Given the description of an element on the screen output the (x, y) to click on. 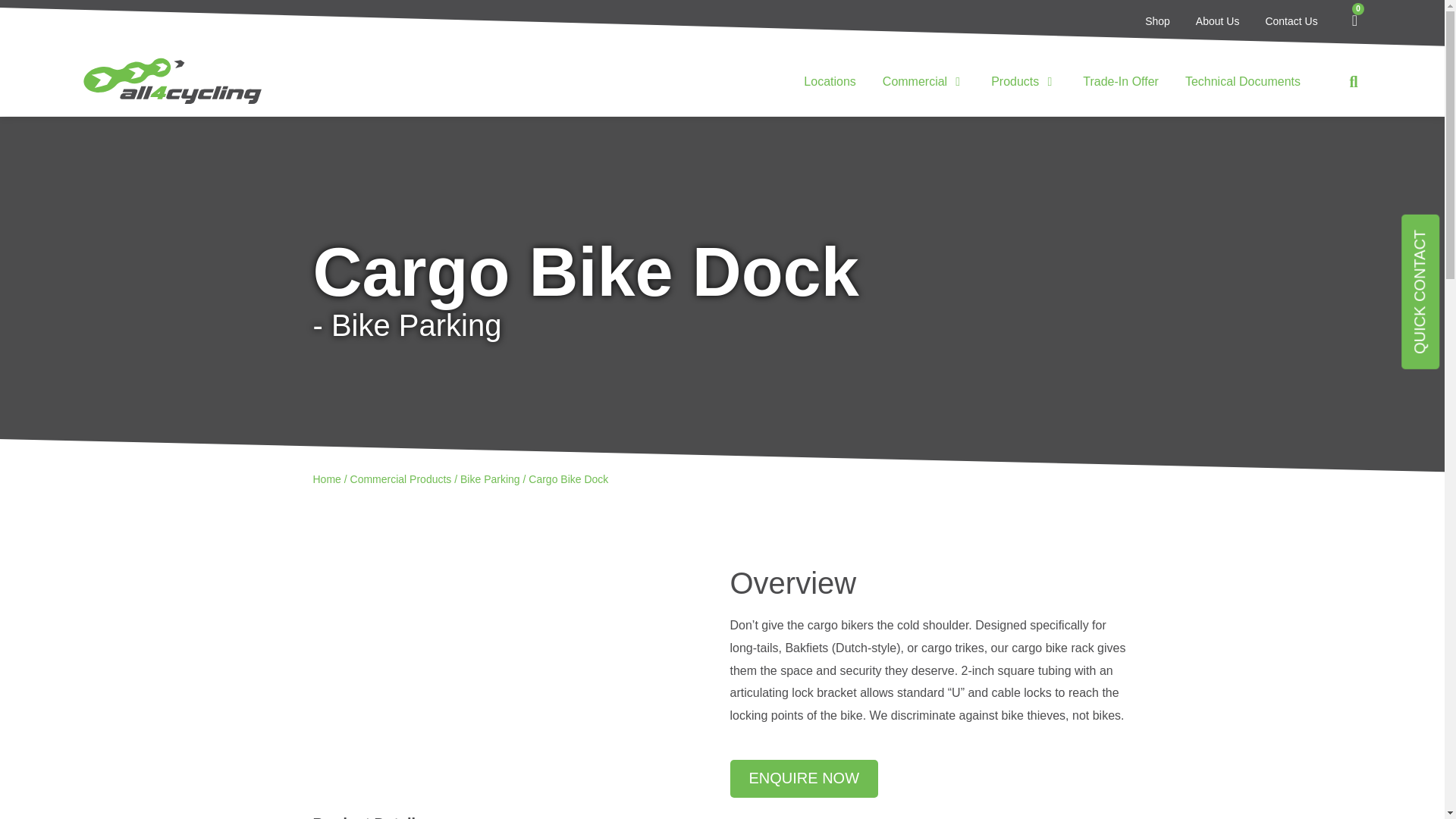
Locations (829, 81)
Shop (1157, 20)
Technical Documents (1242, 81)
Contact Us (1291, 20)
Products (1015, 81)
Commercial (914, 81)
Trade-In Offer (1120, 81)
About Us (1217, 20)
